Given the description of an element on the screen output the (x, y) to click on. 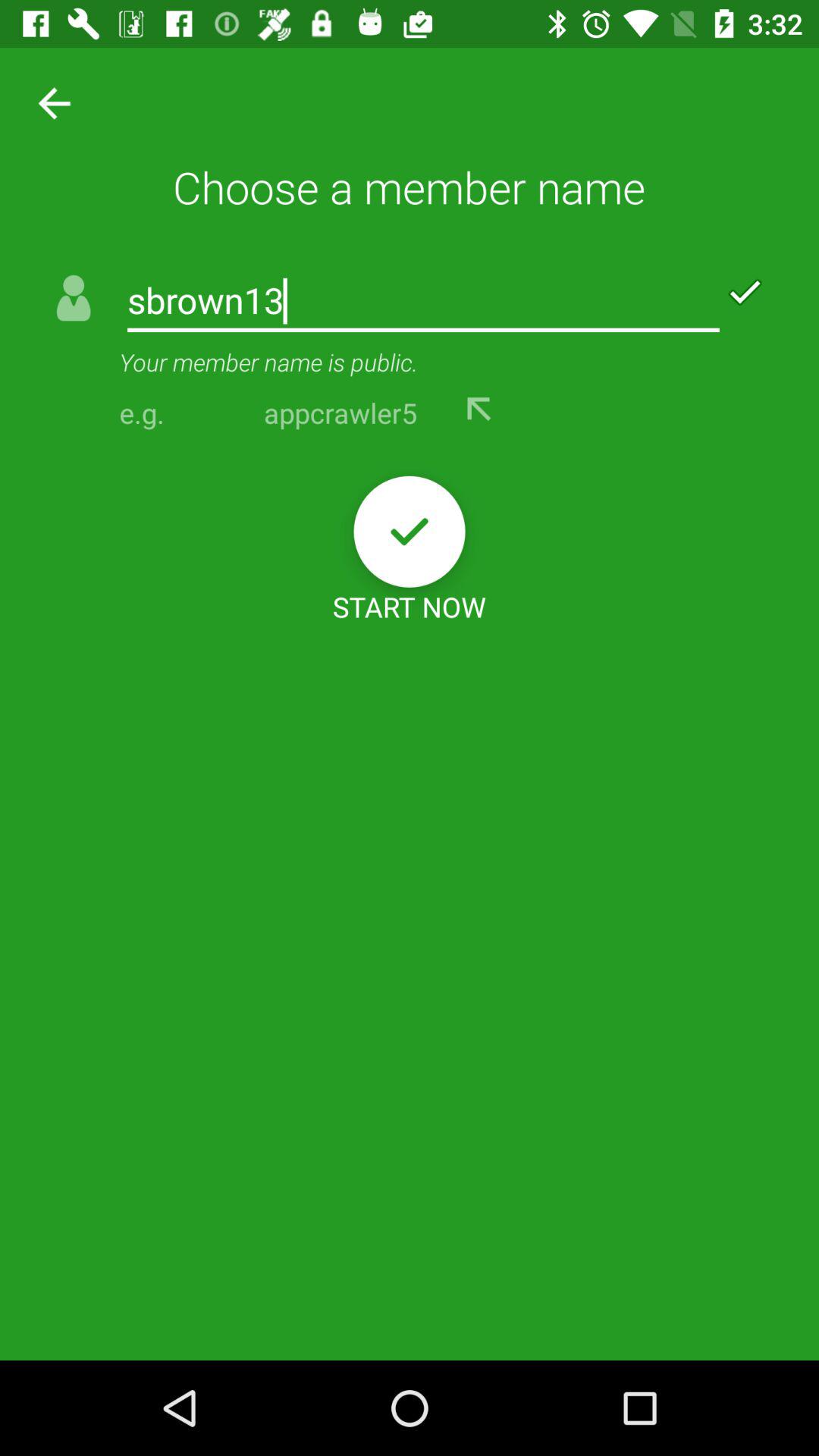
tap icon above your member name (423, 301)
